Given the description of an element on the screen output the (x, y) to click on. 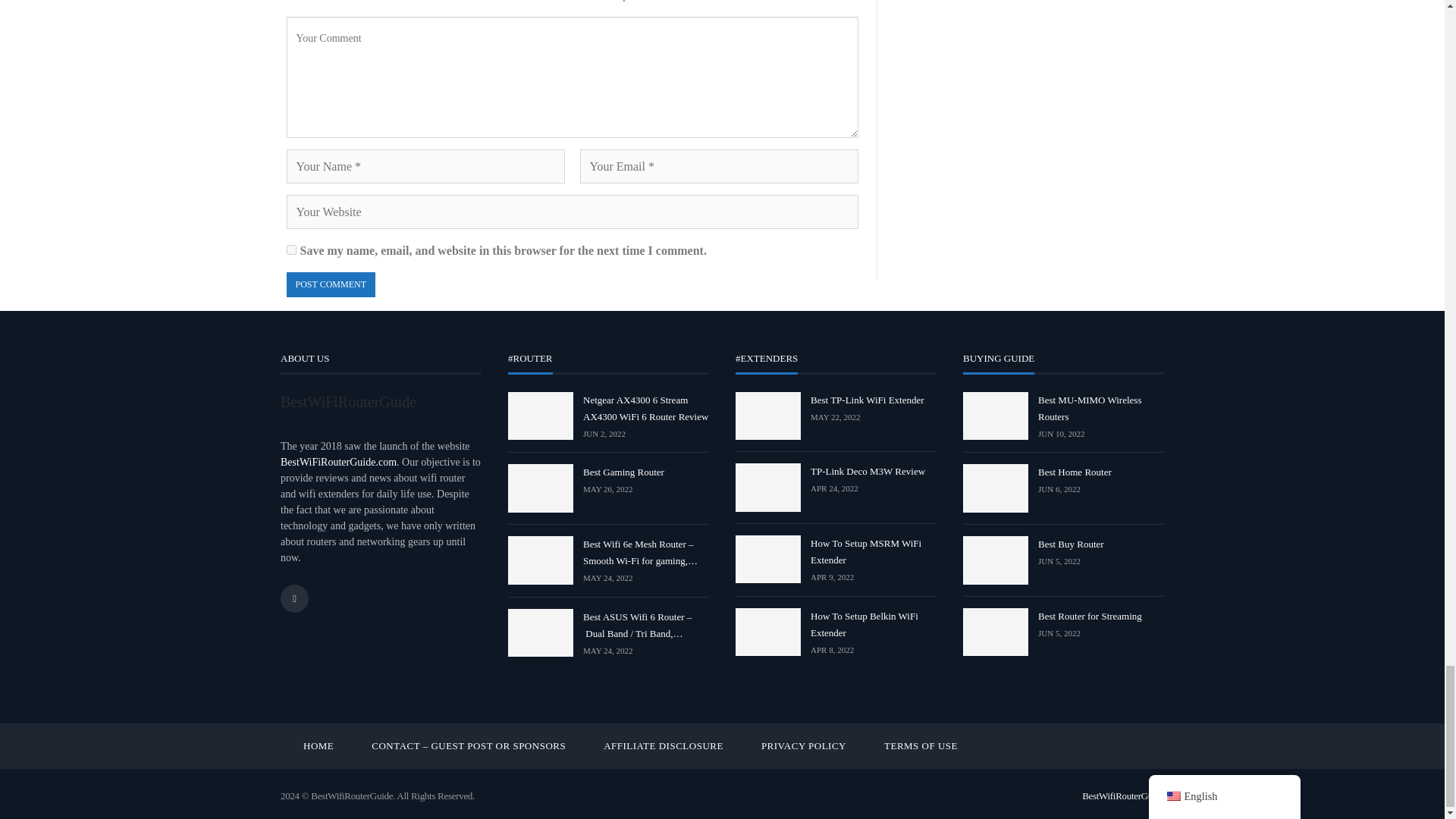
yes (291, 249)
Best Gaming Router (540, 488)
Netgear AX4300 6 Stream AX4300 WiFi 6 Router Review (540, 416)
Post Comment (330, 284)
